Given the description of an element on the screen output the (x, y) to click on. 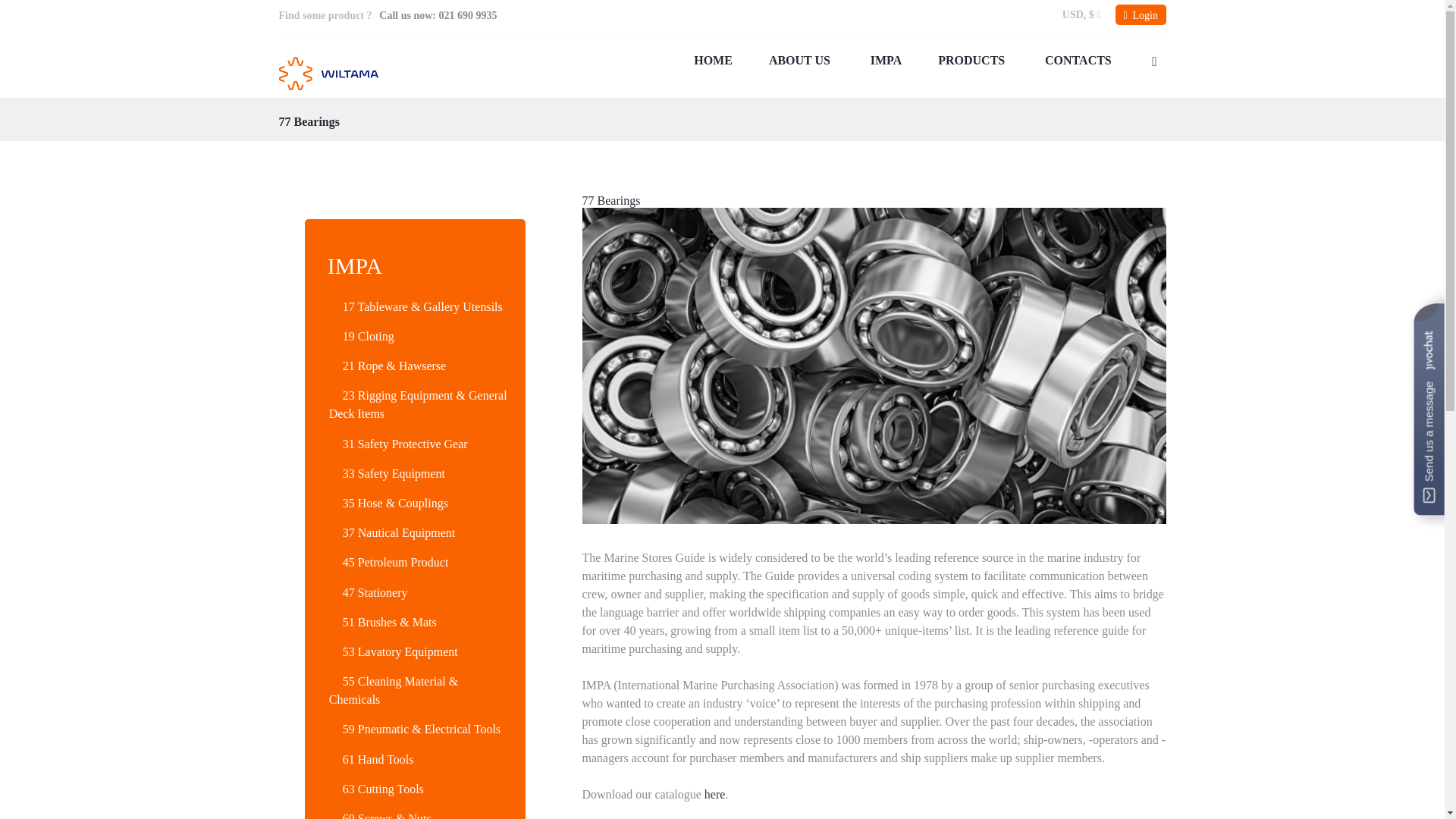
IMPA (885, 60)
PRODUCTS (973, 60)
ABOUT US (801, 60)
Call us now: 021 690 9935 (437, 15)
Login (1140, 14)
CONTACTS (1077, 60)
HOME (713, 60)
